Given the description of an element on the screen output the (x, y) to click on. 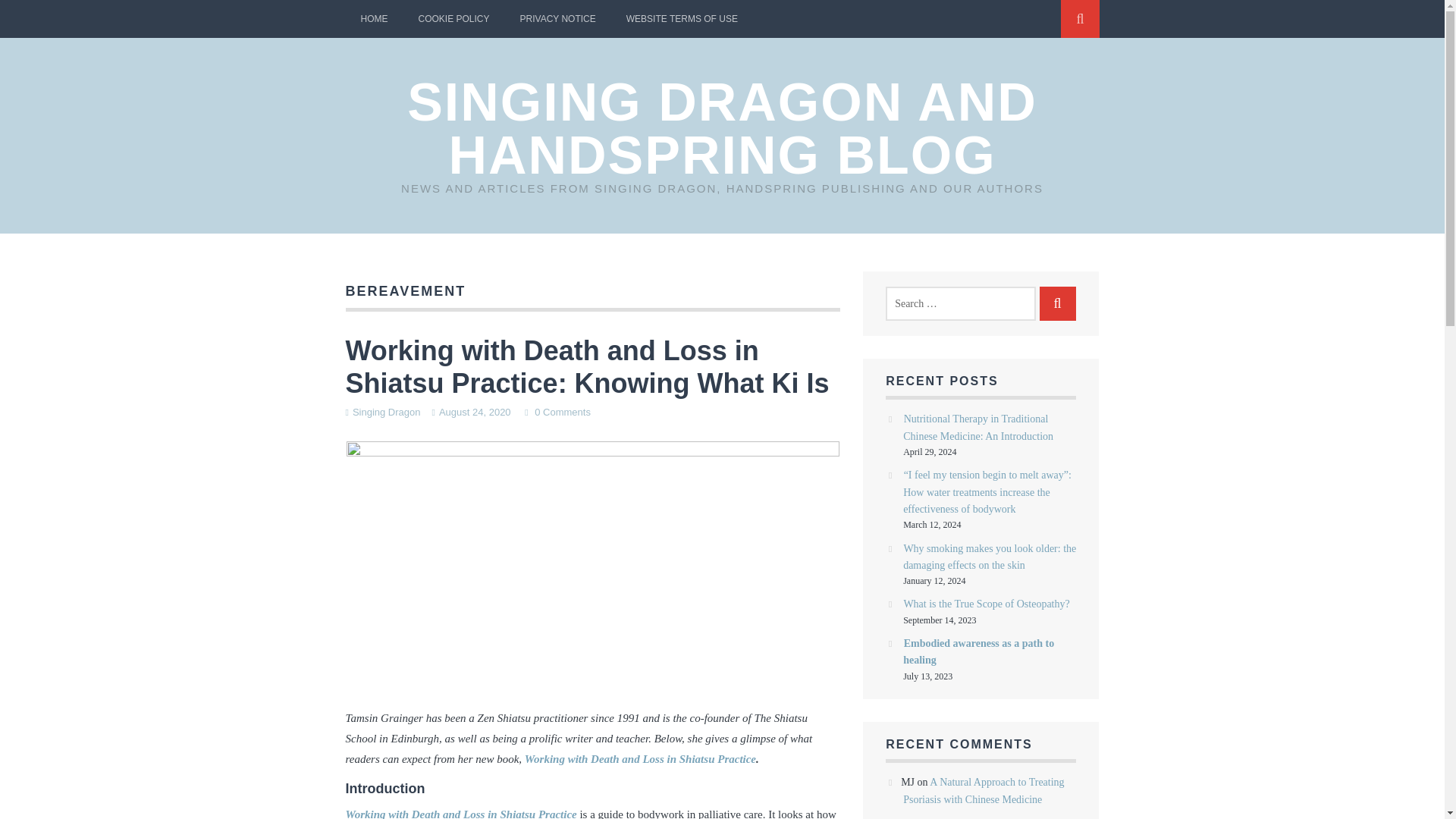
Working with Death and Loss in Shiatsu Practice (639, 758)
COOKIE POLICY (454, 18)
Search for: (960, 303)
HOME (374, 18)
Singing Dragon (386, 411)
Working with Death and Loss in Shiatsu Practice (461, 813)
PRIVACY NOTICE (558, 18)
What is the True Scope of Osteopathy? (985, 603)
SINGING DRAGON AND HANDSPRING BLOG (721, 128)
August 24, 2020 (475, 411)
